Given the description of an element on the screen output the (x, y) to click on. 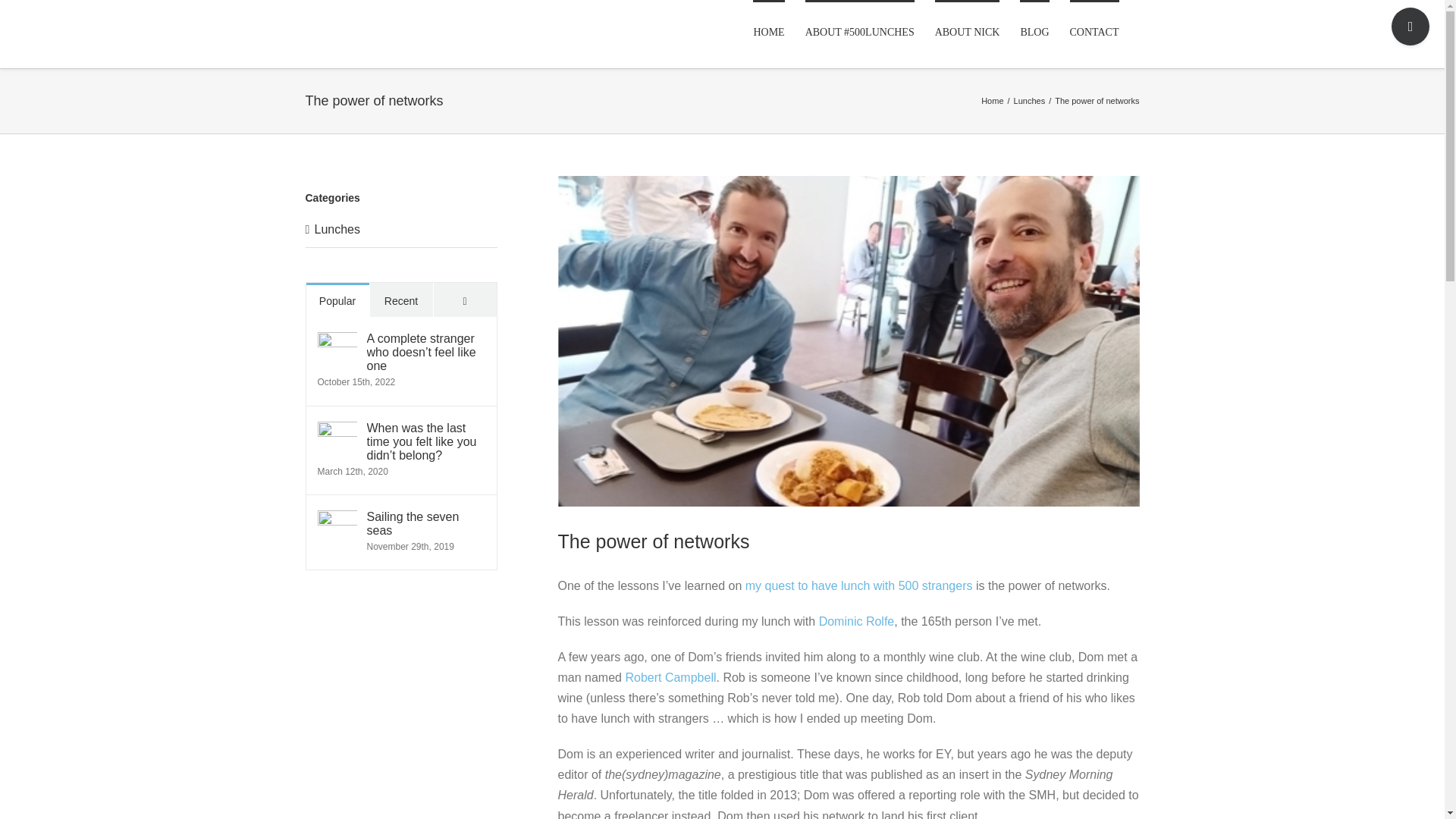
Dominic Rolfe (856, 621)
ABOUT NICK (967, 31)
Lunches (1029, 100)
my quest to have lunch with 500 strangers (858, 585)
Robert Campbell (670, 676)
Home (992, 100)
